Given the description of an element on the screen output the (x, y) to click on. 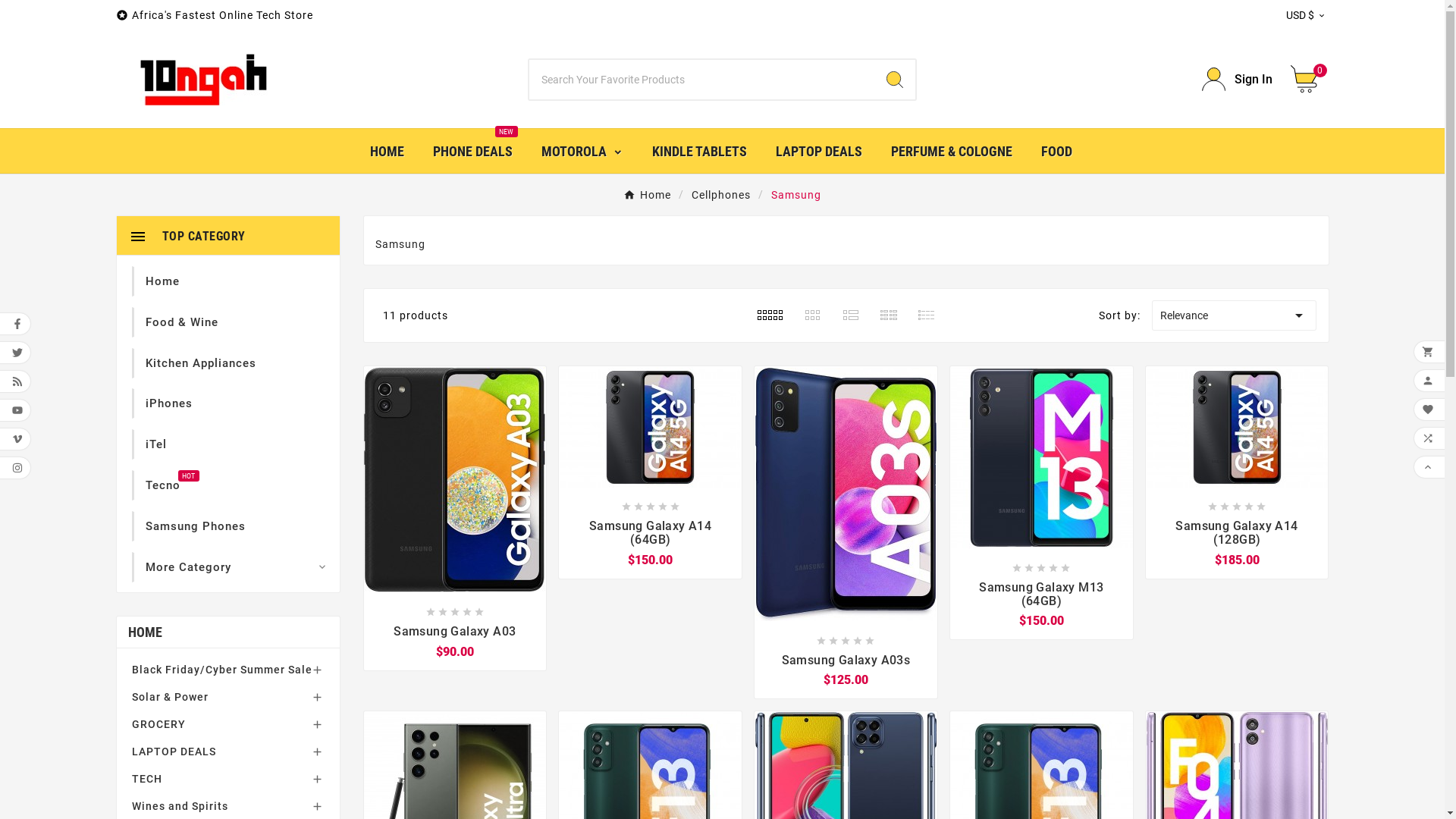
iPhones Element type: text (168, 403)
Samsung Galaxy A03 Element type: text (454, 631)
iTel Element type: text (155, 444)
Home Element type: text (647, 194)
Solar & Power Element type: text (227, 696)
LAPTOP DEALS Element type: text (818, 150)
0 Element type: text (1309, 78)
HOME Element type: text (227, 632)
HOME Element type: text (385, 150)
Food & Wine Element type: text (181, 322)
MOTOROLA Element type: text (581, 150)
GROCERY Element type: text (227, 723)
Cellphones Element type: text (720, 194)
Samsung Phones Element type: text (195, 526)
LAPTOP DEALS Element type: text (227, 751)
Tecno
HOT Element type: text (162, 485)
Samsung Element type: text (796, 194)
PHONE DEALS
NEW Element type: text (472, 150)
Samsung Galaxy A14 (64GB) Element type: text (650, 532)
TECH Element type: text (227, 778)
Samsung Galaxy A03s Element type: text (845, 660)
FOOD Element type: text (1056, 150)
PERFUME & COLOGNE Element type: text (951, 150)
Home Element type: text (162, 281)
Kitchen Appliances Element type: text (200, 363)
Samsung Galaxy M13 (64GB) Element type: text (1041, 593)
Sign In Element type: text (1236, 79)
Samsung Galaxy A14 (128GB) Element type: text (1237, 532)
Black Friday/Cyber Summer Sale Element type: text (227, 669)
KINDLE TABLETS Element type: text (698, 150)
